Given the description of an element on the screen output the (x, y) to click on. 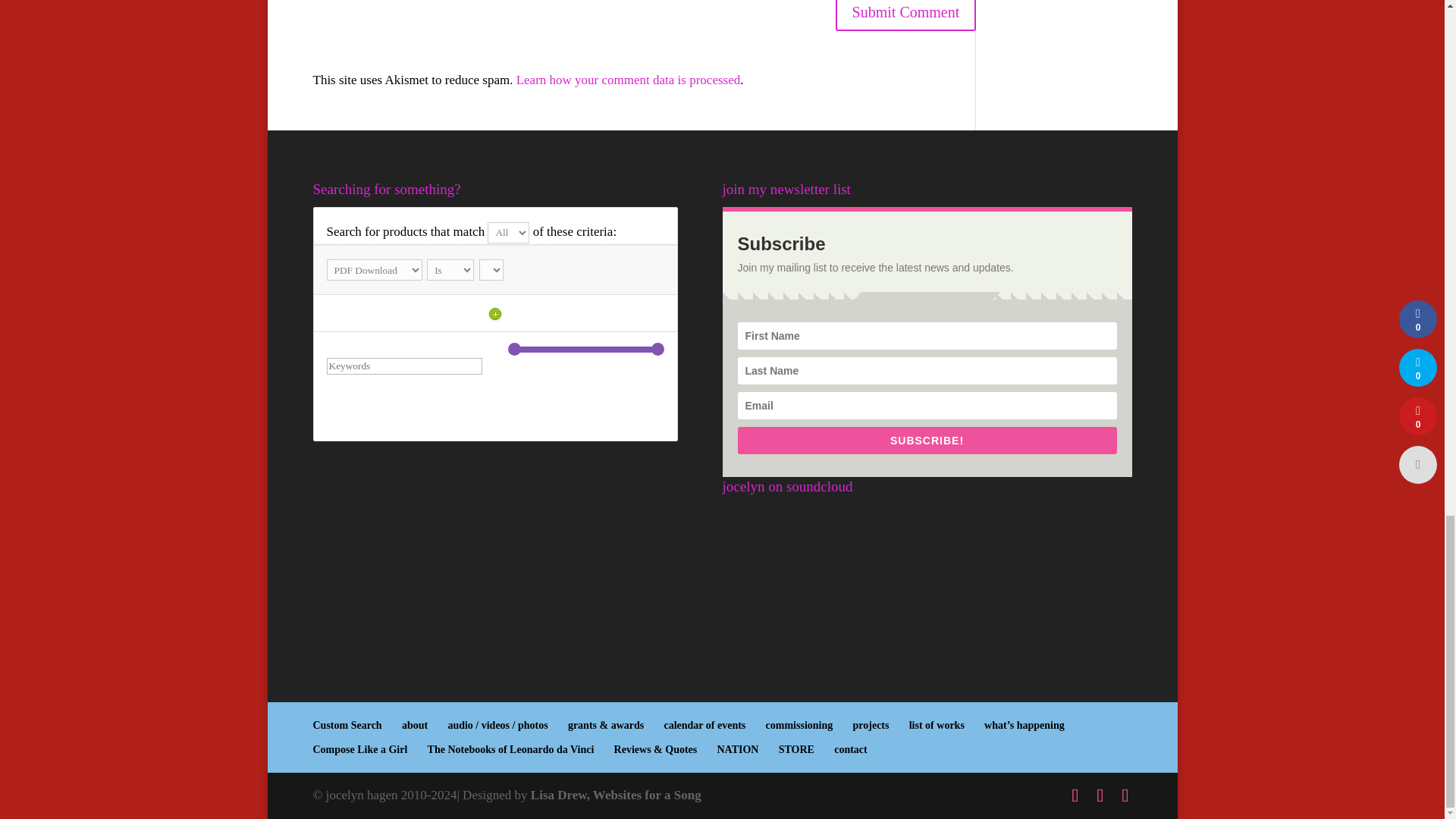
Search (363, 408)
Submit Comment (905, 15)
